Given the description of an element on the screen output the (x, y) to click on. 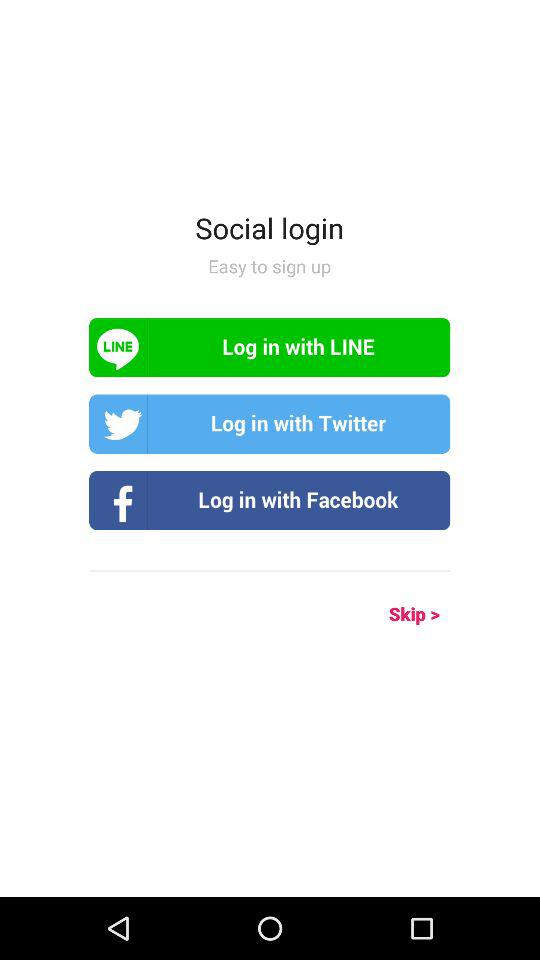
log in button (269, 347)
